Given the description of an element on the screen output the (x, y) to click on. 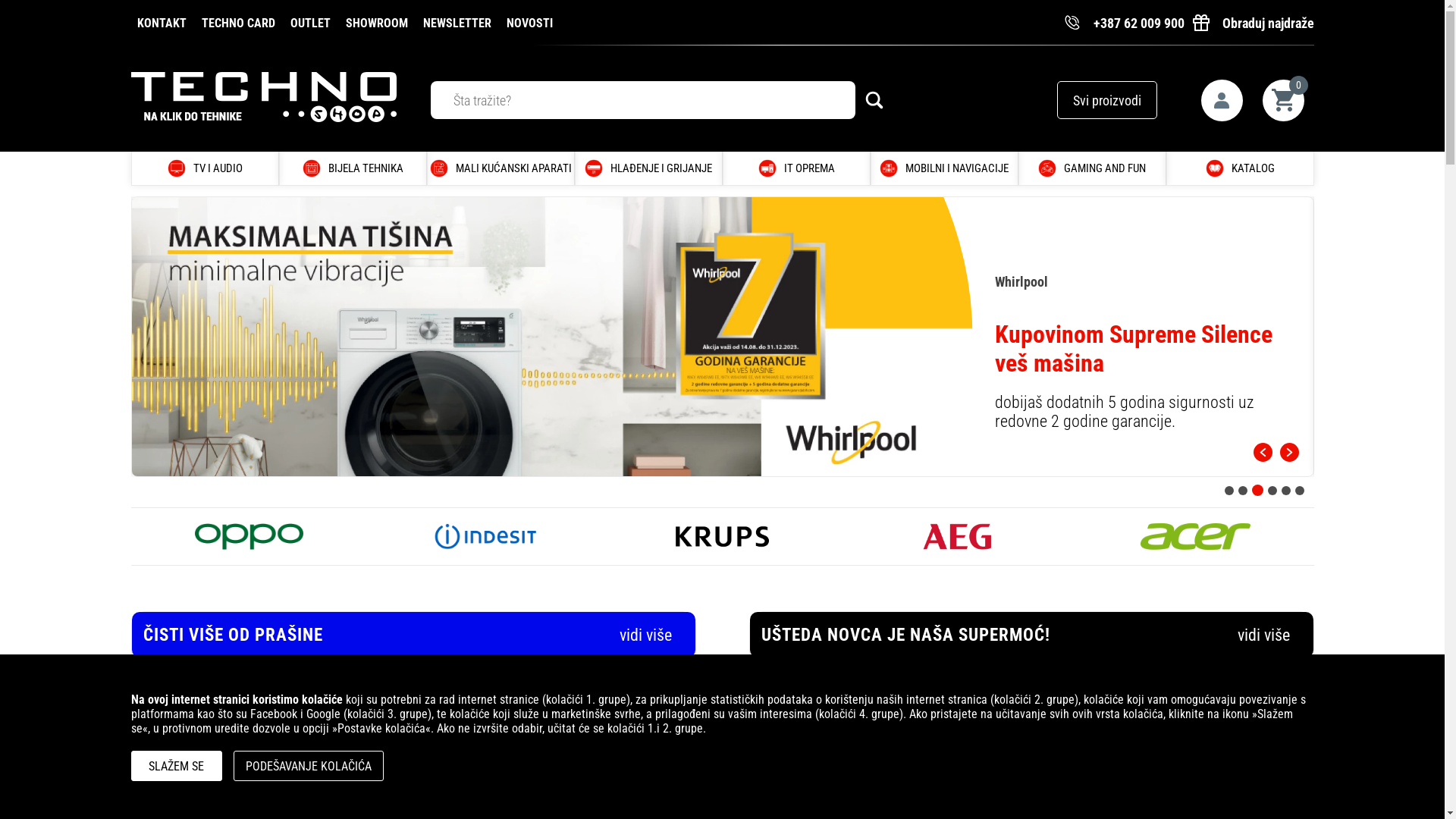
2 Element type: text (1242, 489)
KATALOG Element type: text (1248, 168)
6 Element type: text (1299, 489)
+387 62 009 900 Element type: text (1123, 22)
SHOWROOM Element type: text (376, 22)
TECHNO CARD Element type: text (238, 22)
NEWSLETTER Element type: text (457, 22)
KONTAKT Element type: text (160, 22)
OUTLET Element type: text (309, 22)
1 Element type: text (1228, 489)
0 Element type: text (1282, 99)
Svi proizvodi Element type: text (1107, 100)
NOVOSTI Element type: text (529, 22)
5 Element type: text (1285, 489)
4 Element type: text (1272, 489)
3 Element type: text (1258, 489)
